Given the description of an element on the screen output the (x, y) to click on. 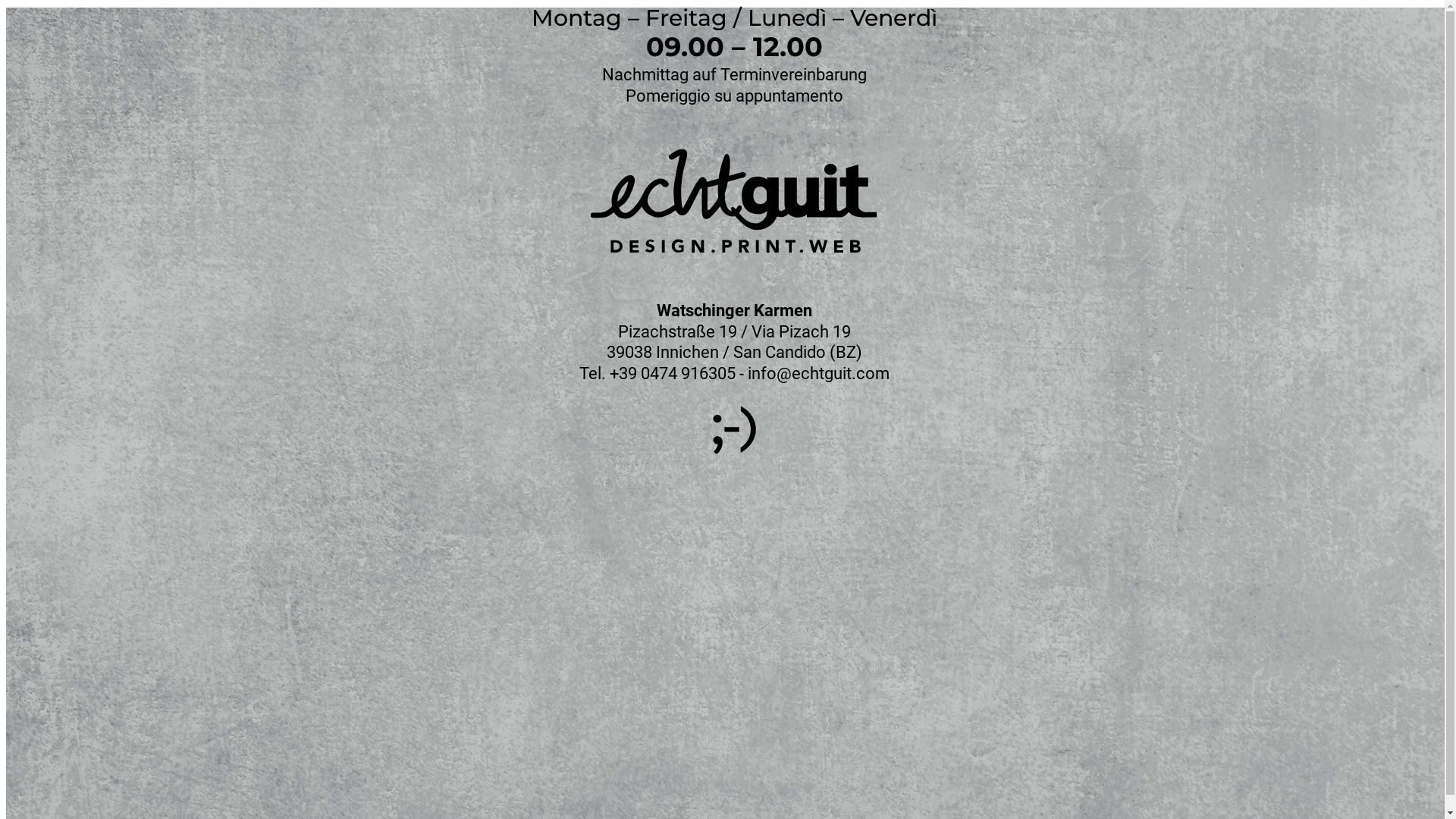
+39 0474 916305 Element type: text (672, 373)
info@echtguit.com Element type: text (818, 373)
